Given the description of an element on the screen output the (x, y) to click on. 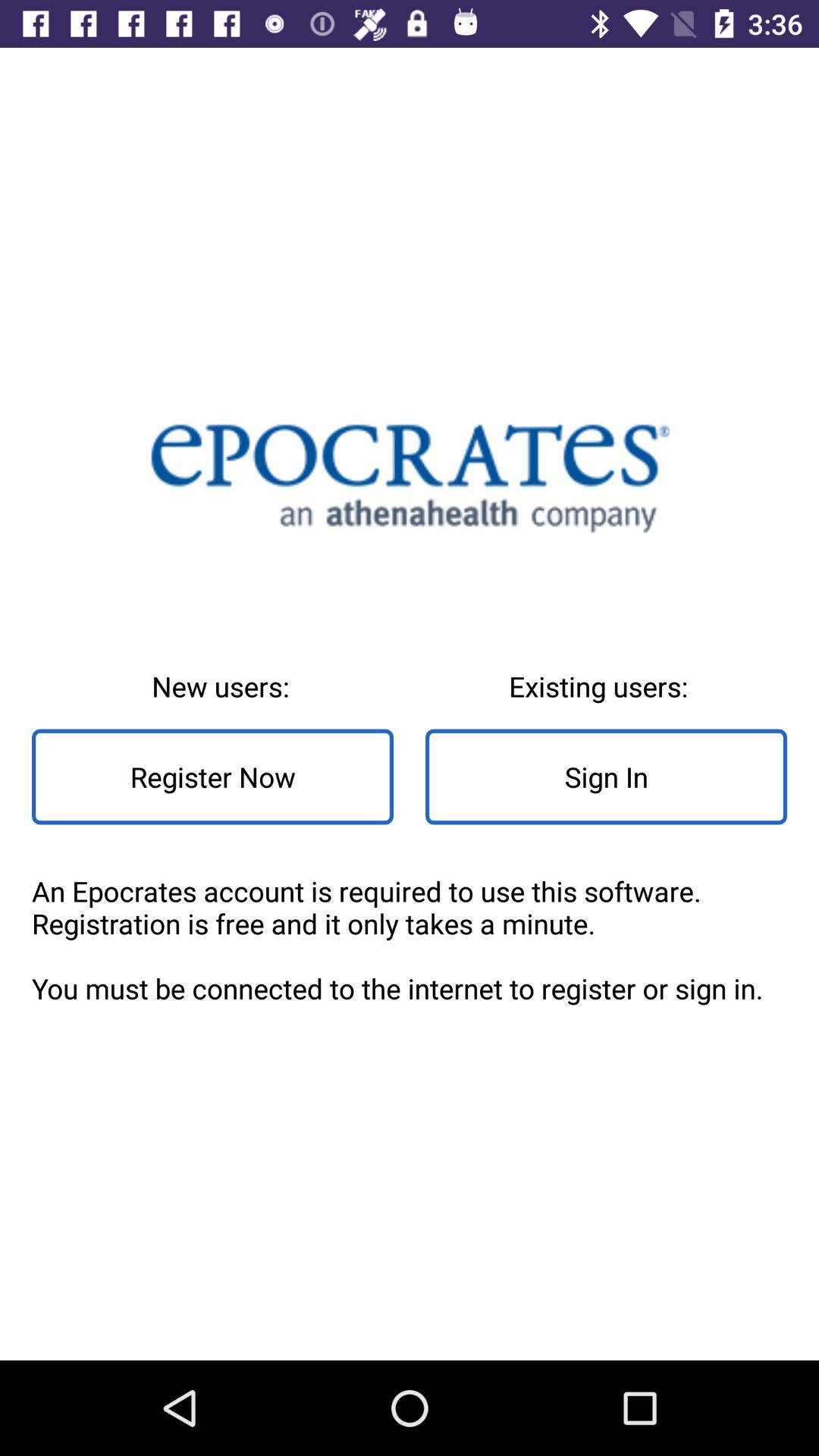
click the icon above the an epocrates account (606, 776)
